Given the description of an element on the screen output the (x, y) to click on. 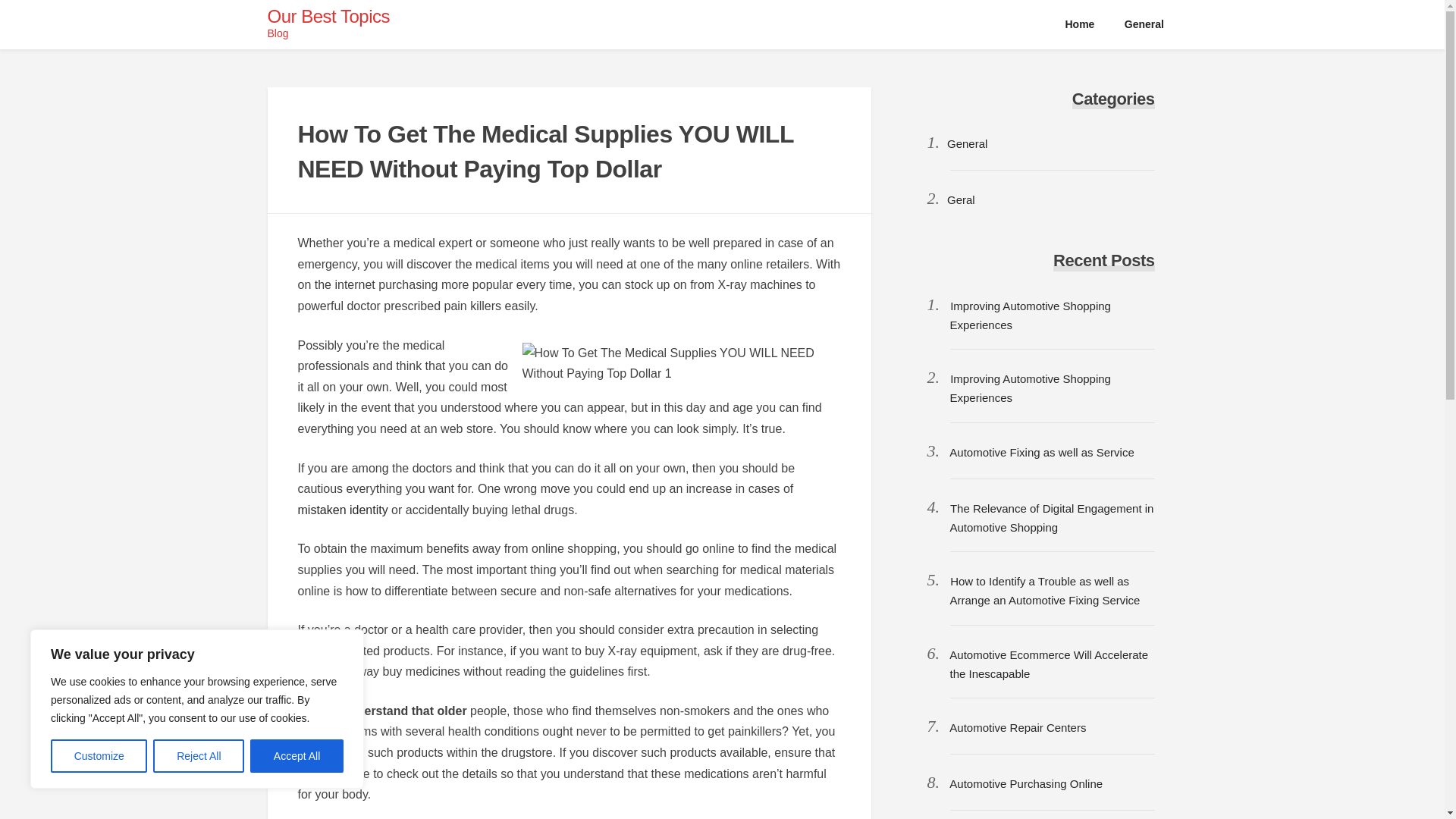
Automotive Repair Centers (1017, 727)
Our Best Topics (327, 15)
Automotive Purchasing Online (1025, 783)
Automotive Ecommerce Will Accelerate the Inescapable (1048, 664)
General (1143, 24)
Customize (98, 756)
The Relevance of Digital Engagement in Automotive Shopping (1051, 517)
mistaken identity (342, 509)
Automotive Fixing as well as Service (1041, 451)
Home (1079, 24)
Accept All (296, 756)
Reject All (198, 756)
Geral (961, 199)
Improving Automotive Shopping Experiences (1029, 315)
